Given the description of an element on the screen output the (x, y) to click on. 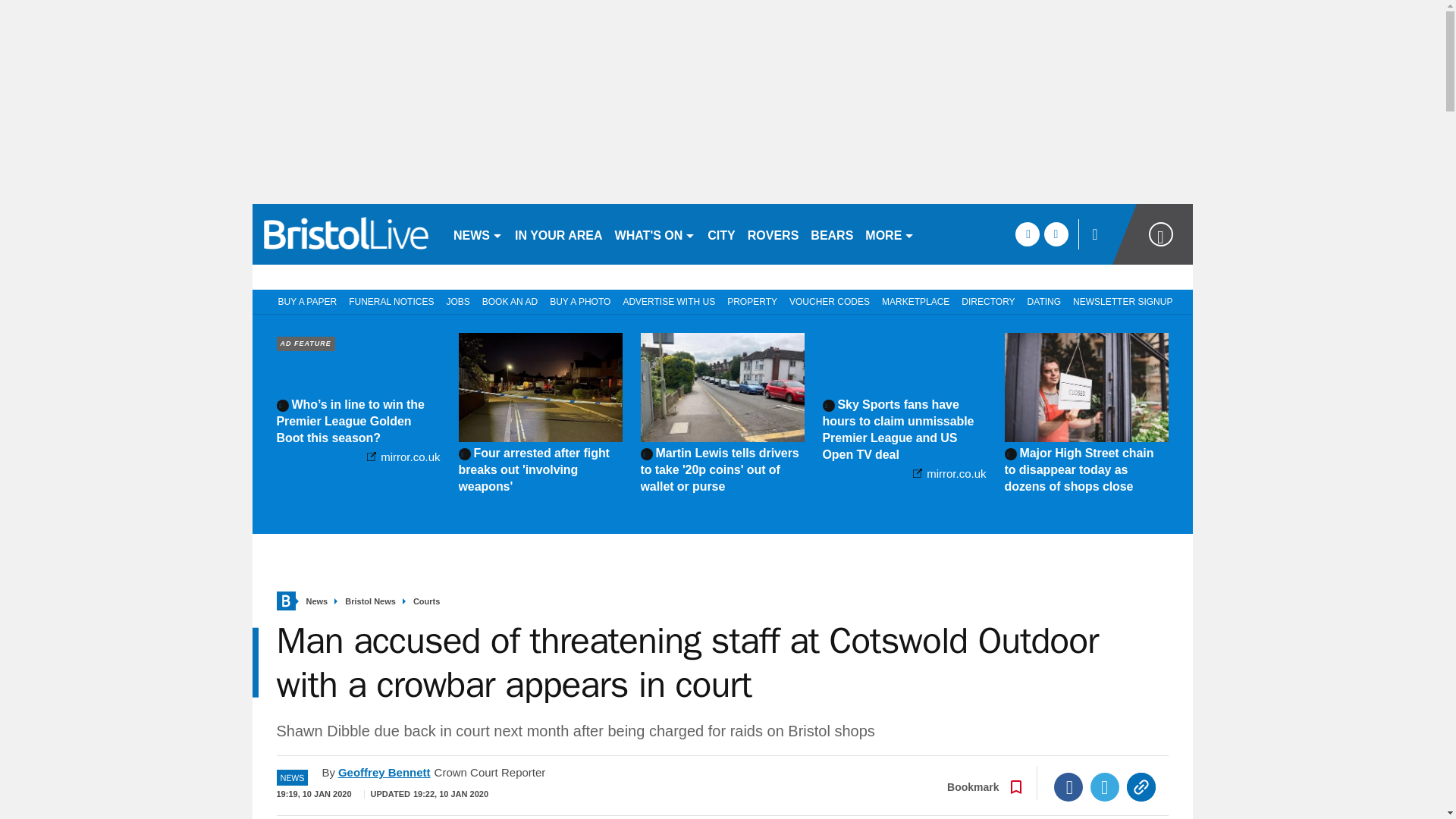
WHAT'S ON (654, 233)
NEWS (477, 233)
ROVERS (773, 233)
IN YOUR AREA (558, 233)
Twitter (1104, 787)
facebook (1026, 233)
twitter (1055, 233)
bristolpost (345, 233)
Facebook (1068, 787)
MORE (889, 233)
